Given the description of an element on the screen output the (x, y) to click on. 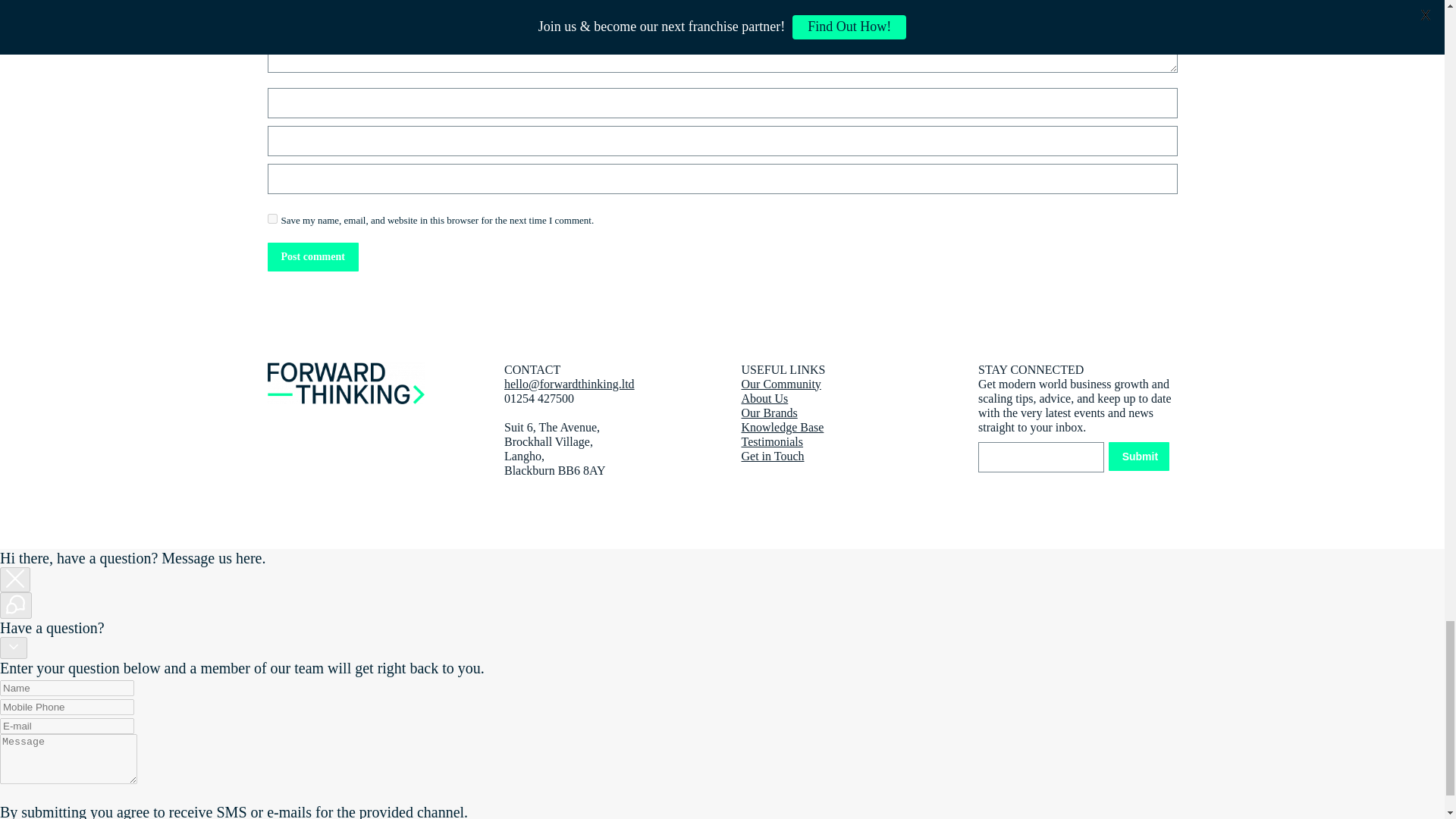
Submit (1138, 456)
Knowledge Base (782, 427)
Our Community (781, 383)
Get in Touch (773, 455)
Our Brands (769, 412)
yes (271, 218)
Post comment (312, 256)
About Us (765, 398)
Testimonials (772, 440)
Submit (1138, 456)
